Given the description of an element on the screen output the (x, y) to click on. 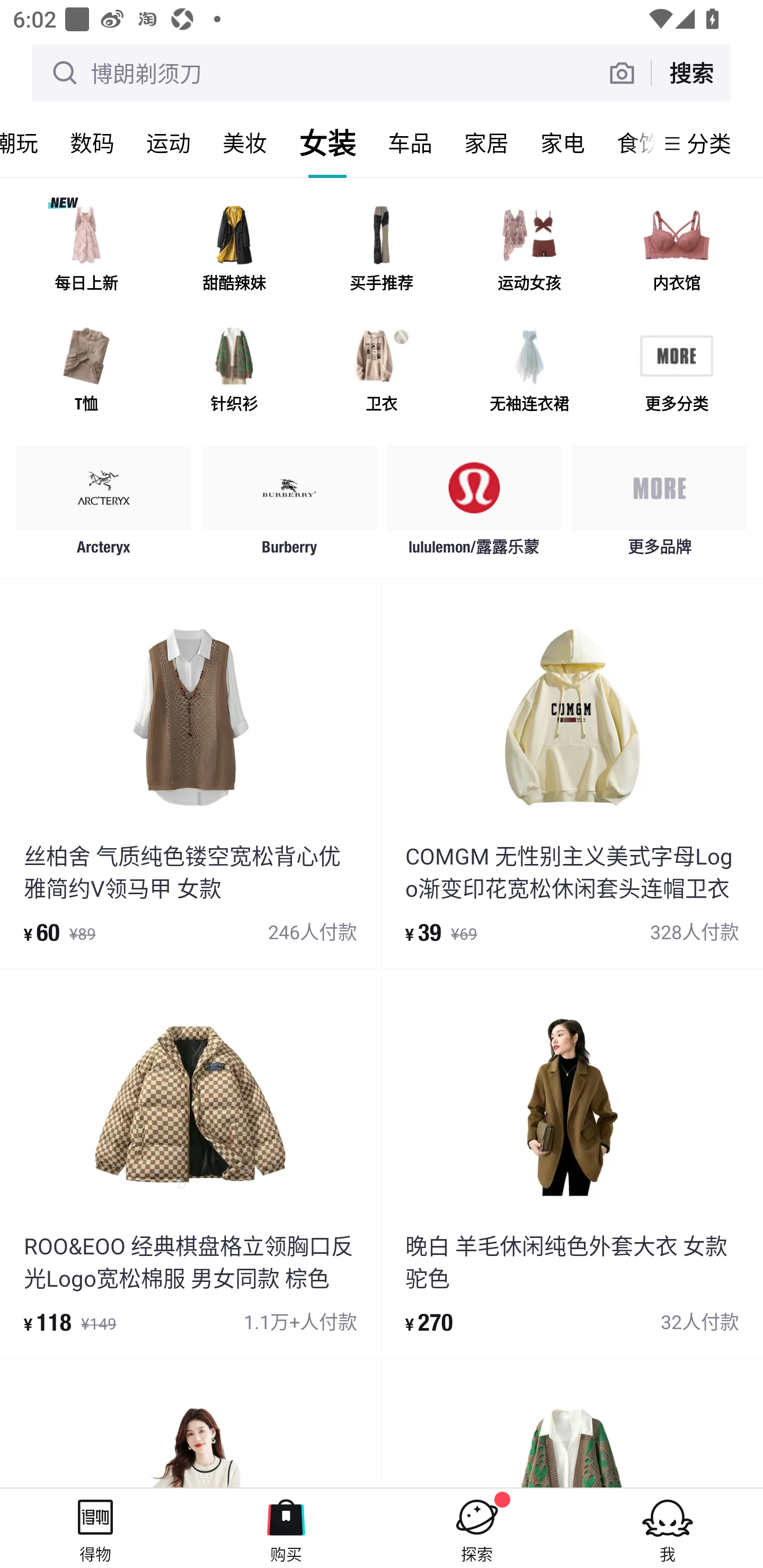
博朗剃须刀 搜索 (381, 72)
搜索 (690, 72)
潮玩 (27, 143)
数码 (92, 143)
运动 (168, 143)
美妆 (244, 143)
女装 (327, 143)
车品 (410, 143)
家居 (486, 143)
家电 (562, 143)
食饮 (627, 143)
分类 (708, 143)
每日上新 (86, 251)
甜酷辣妹 (233, 251)
买手推荐 (381, 251)
运动女孩 (528, 251)
内衣馆 (676, 251)
T恤 (86, 372)
针织衫 (233, 372)
卫衣 (381, 372)
无袖连衣裙 (528, 372)
更多分类 (676, 372)
Arcteryx (103, 505)
Burberry (288, 505)
lululemon/露露乐蒙 (473, 505)
更多品牌 (658, 505)
product_item 晚白 羊毛休闲纯色外套大衣 女款 
驼色 ¥ 270 32人付款 (572, 1163)
得物 (95, 1528)
购买 (285, 1528)
探索 (476, 1528)
我 (667, 1528)
